Given the description of an element on the screen output the (x, y) to click on. 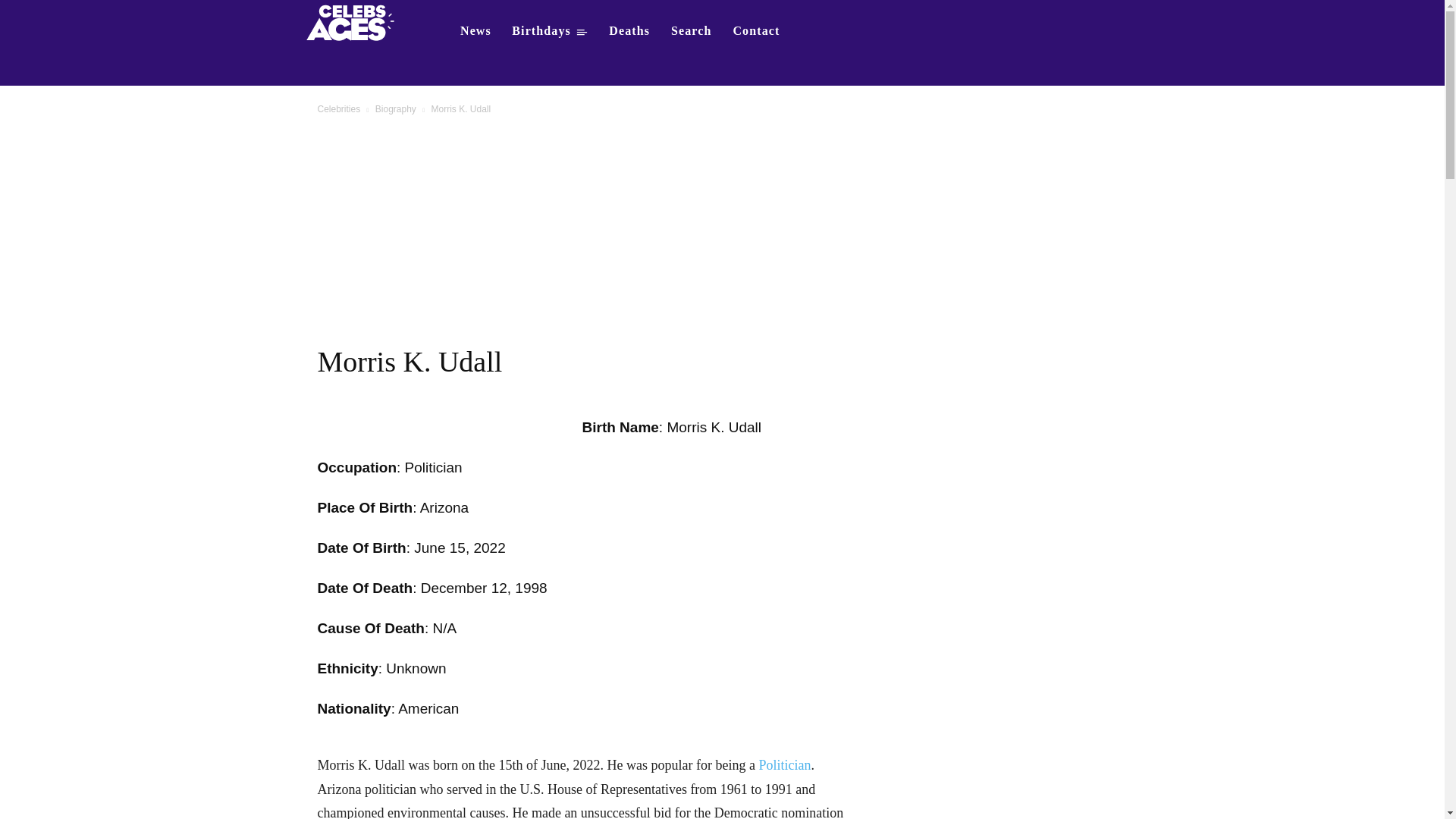
June (429, 547)
Contact (756, 31)
Biography (395, 109)
Birthdays (548, 31)
2022 (489, 547)
Politician (784, 765)
Who is dating who (354, 21)
News (474, 31)
Search (691, 31)
Celebs News (474, 31)
